Given the description of an element on the screen output the (x, y) to click on. 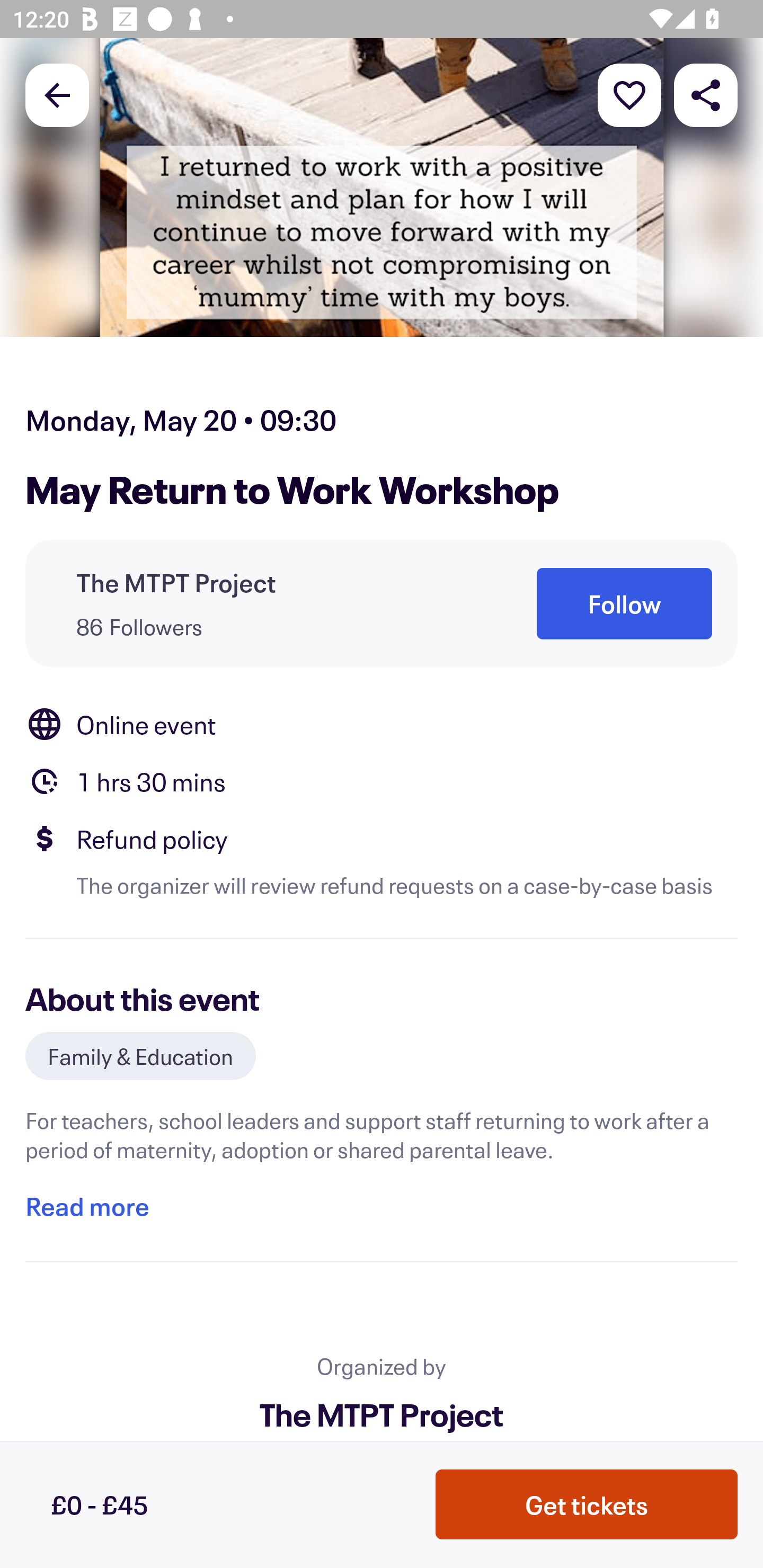
Back (57, 94)
More (629, 94)
Share (705, 94)
The MTPT Project (176, 582)
Follow (623, 603)
Location Online event (381, 724)
Read more (87, 1206)
The MTPT Project (381, 1413)
Get tickets (586, 1504)
